Given the description of an element on the screen output the (x, y) to click on. 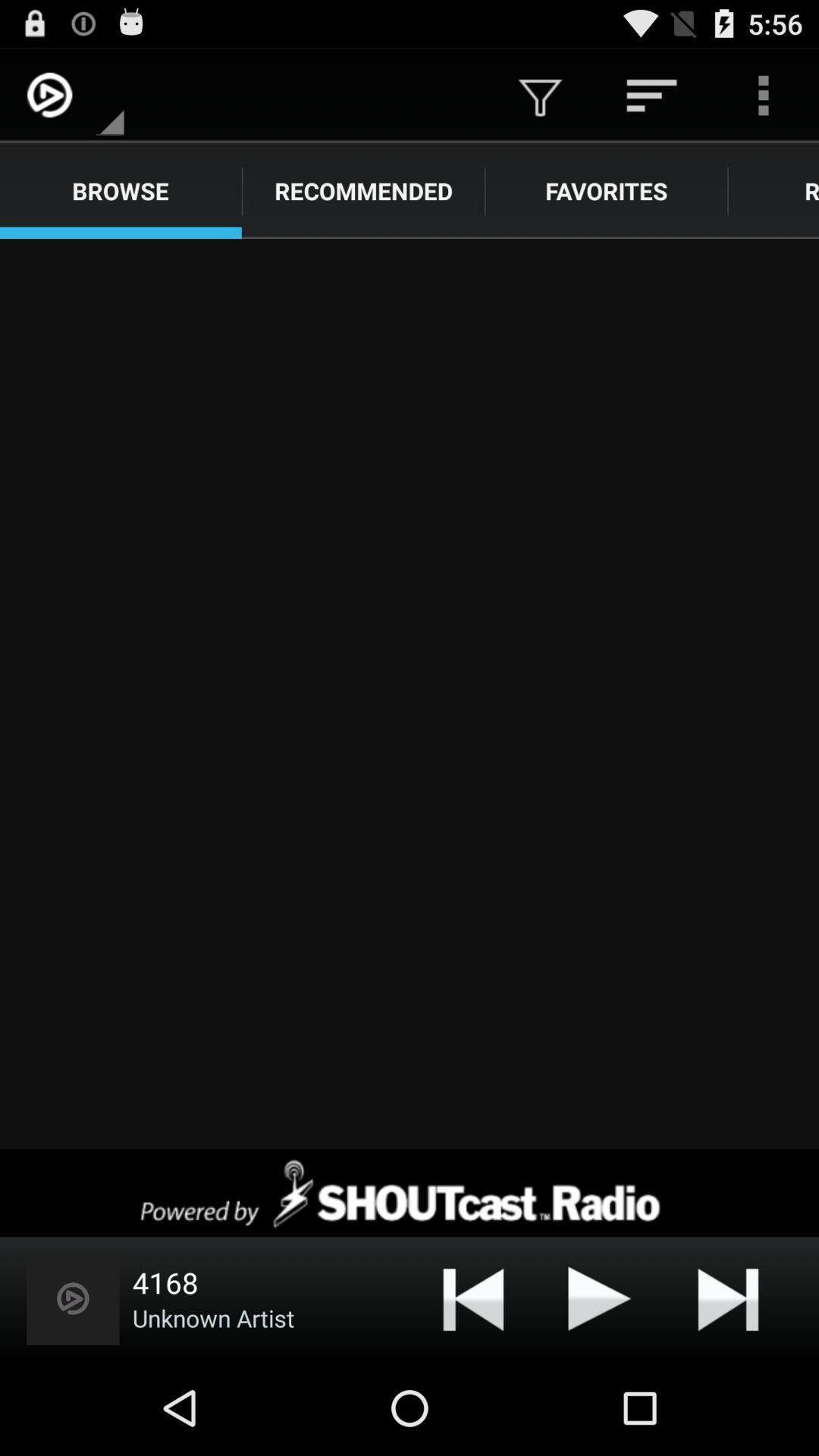
press the icon below the browse item (409, 693)
